Given the description of an element on the screen output the (x, y) to click on. 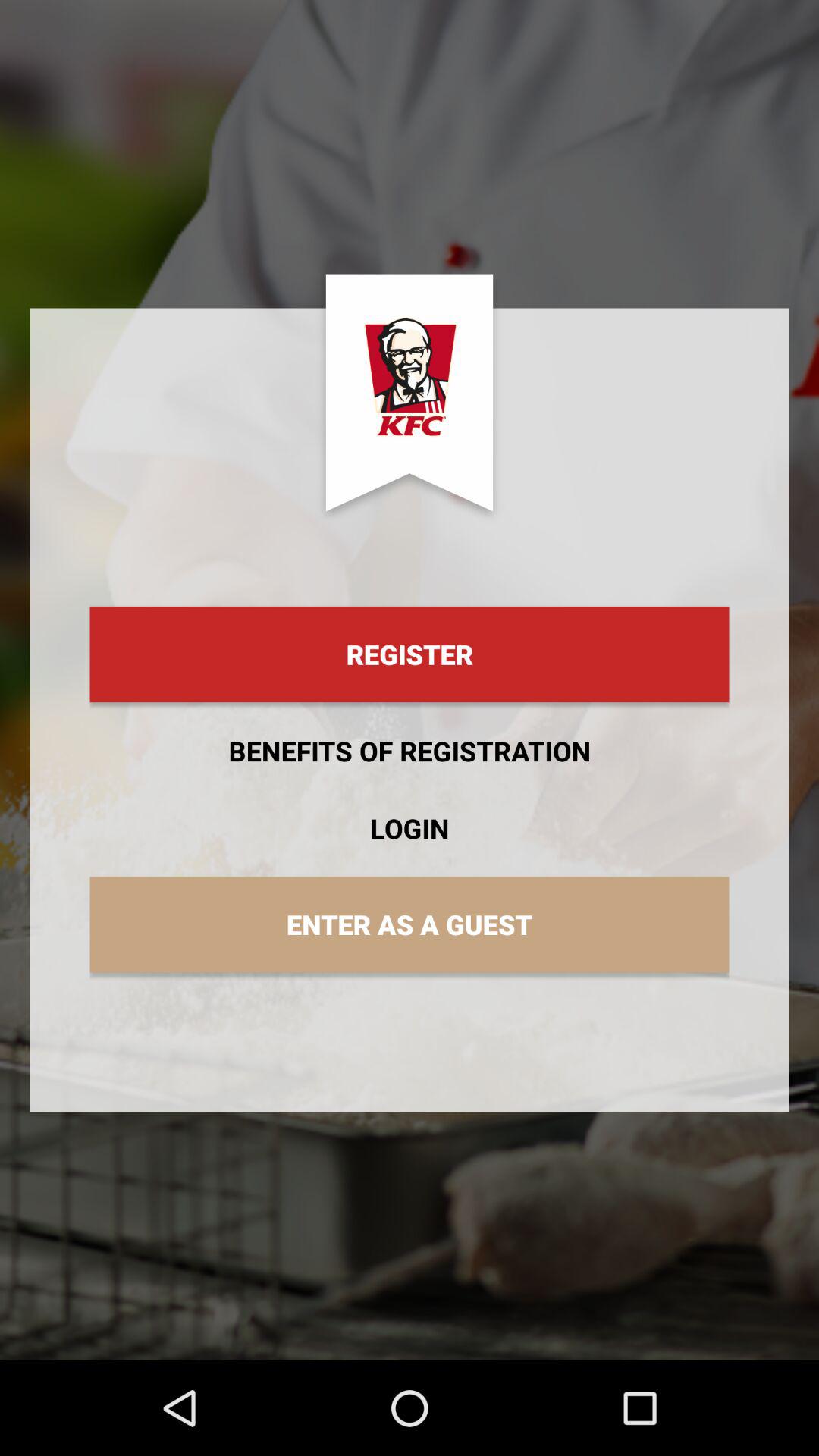
flip to benefits of registration (409, 750)
